Given the description of an element on the screen output the (x, y) to click on. 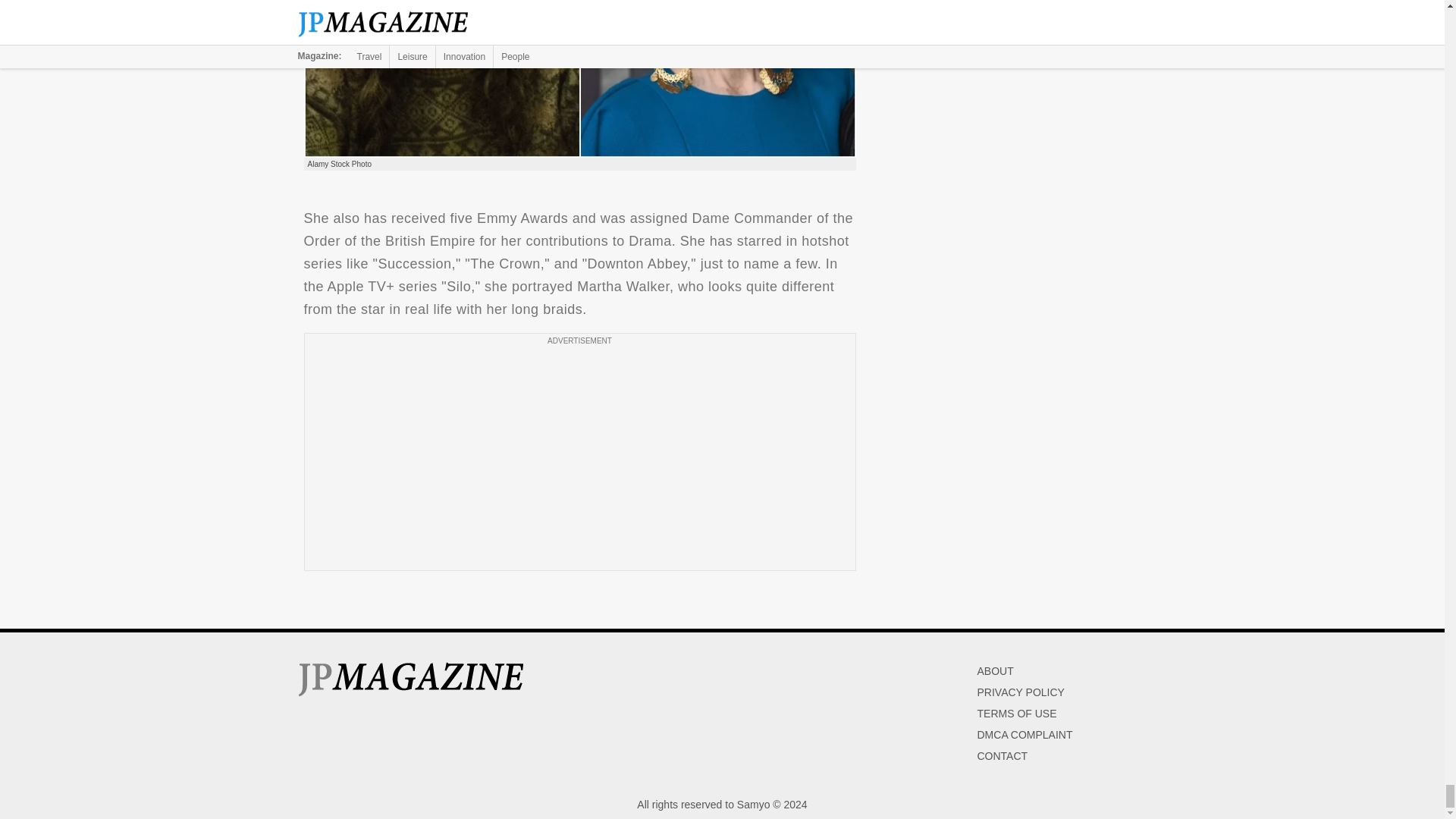
DMCA COMPLAINT (1023, 734)
CONTACT (1001, 756)
ABOUT (994, 671)
TERMS OF USE (1016, 713)
PRIVACY POLICY (1020, 692)
